Given the description of an element on the screen output the (x, y) to click on. 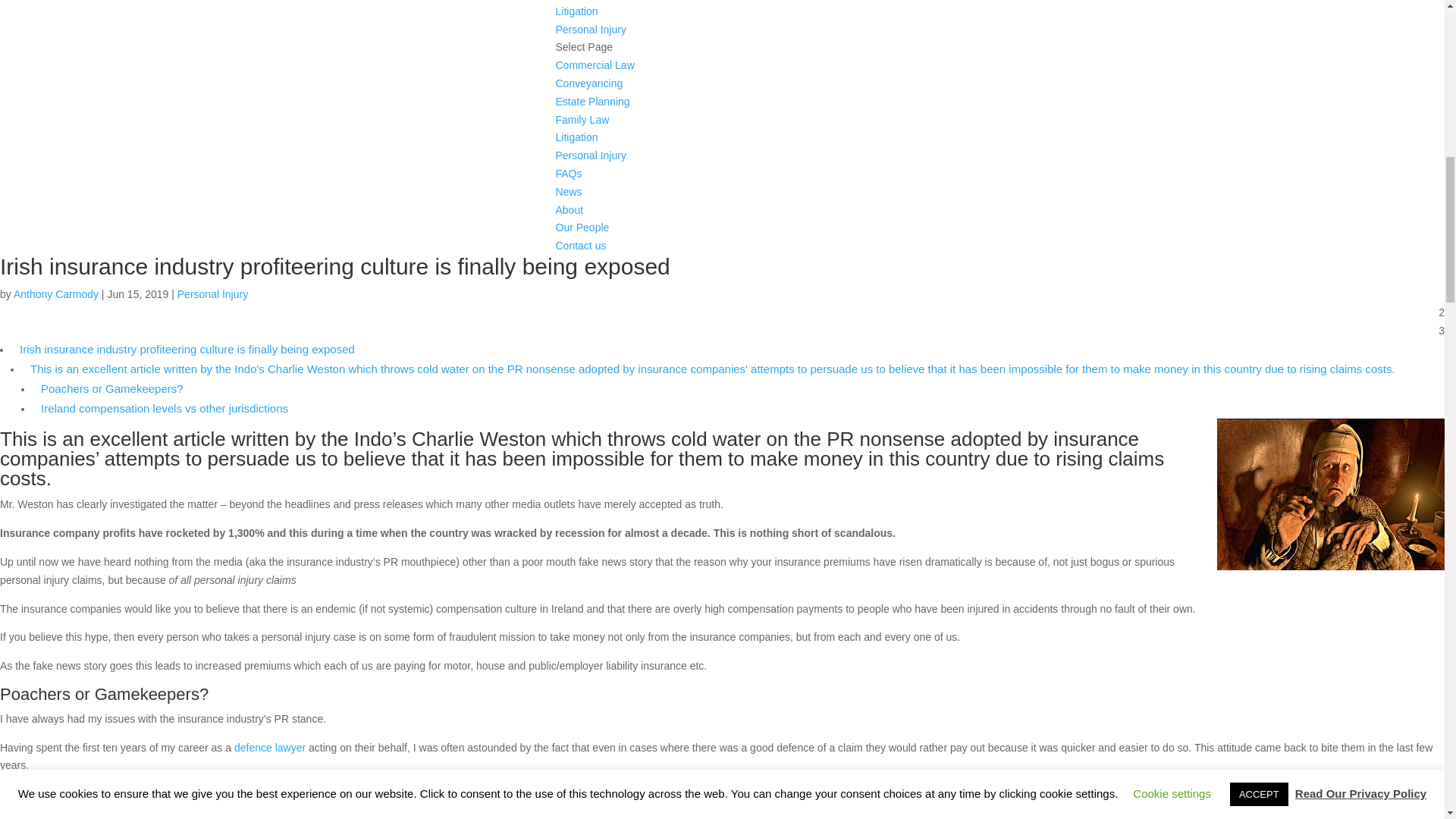
Posts by Anthony Carmody (56, 294)
Litigation (575, 137)
Litigation (575, 10)
Anthony Carmody (56, 294)
About (568, 209)
Conveyancing (588, 82)
Ireland compensation levels vs other jurisdictions (164, 409)
Our People (581, 227)
News (567, 191)
Personal Injury (590, 29)
Poachers or Gamekeepers? (111, 389)
Personal Injury (590, 155)
defence lawyer (269, 747)
Personal Injury (212, 294)
